Given the description of an element on the screen output the (x, y) to click on. 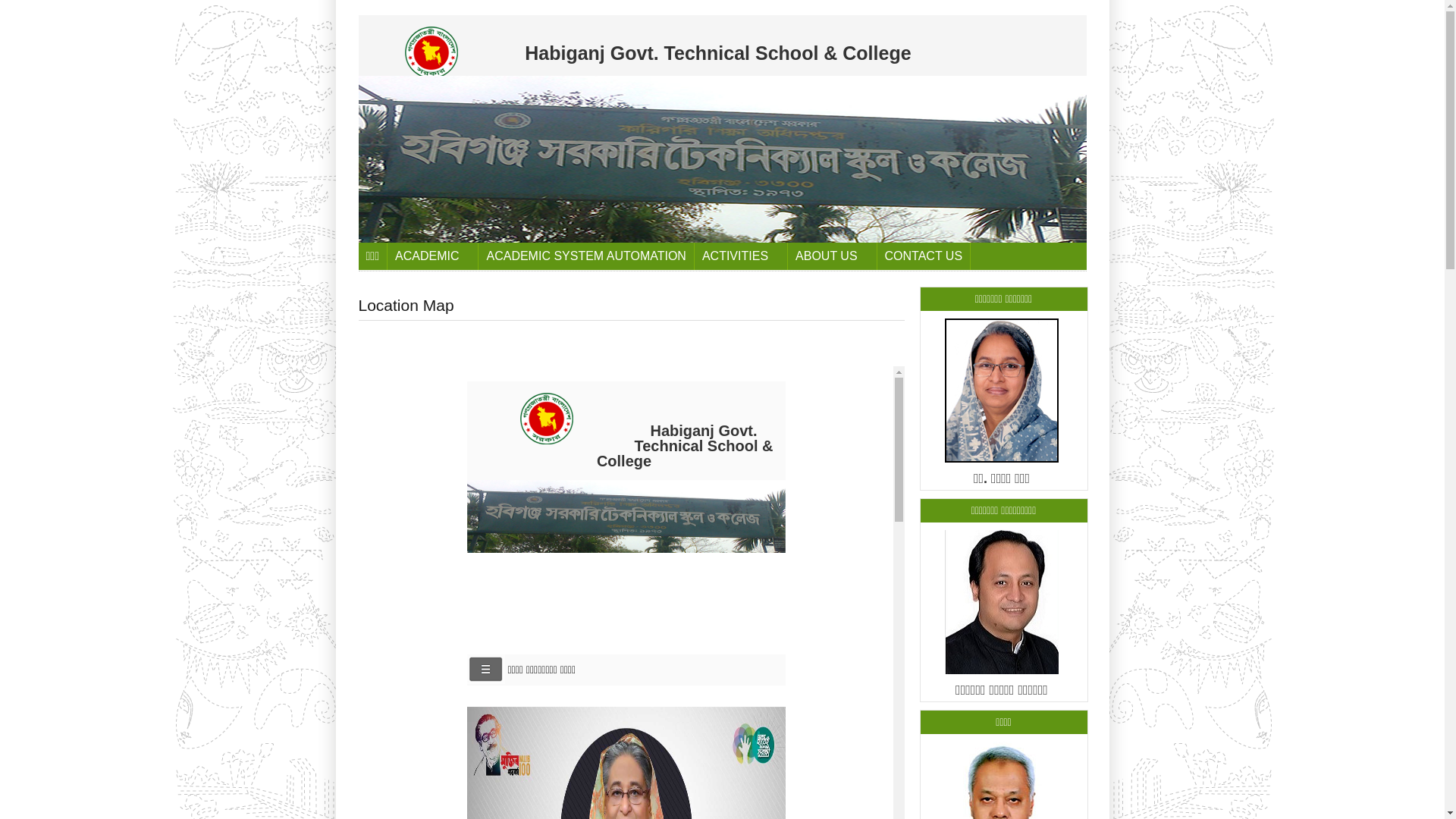
ACADEMIC Element type: text (432, 255)
Habiganj Govt. Technical School & College Element type: text (719, 45)
Next Element type: text (1071, 151)
ACADEMIC SYSTEM AUTOMATION Element type: text (585, 255)
ABOUT US Element type: text (832, 255)
CONTACT US Element type: text (924, 255)
ACTIVITIES Element type: text (740, 255)
Previous Element type: text (371, 151)
